Given the description of an element on the screen output the (x, y) to click on. 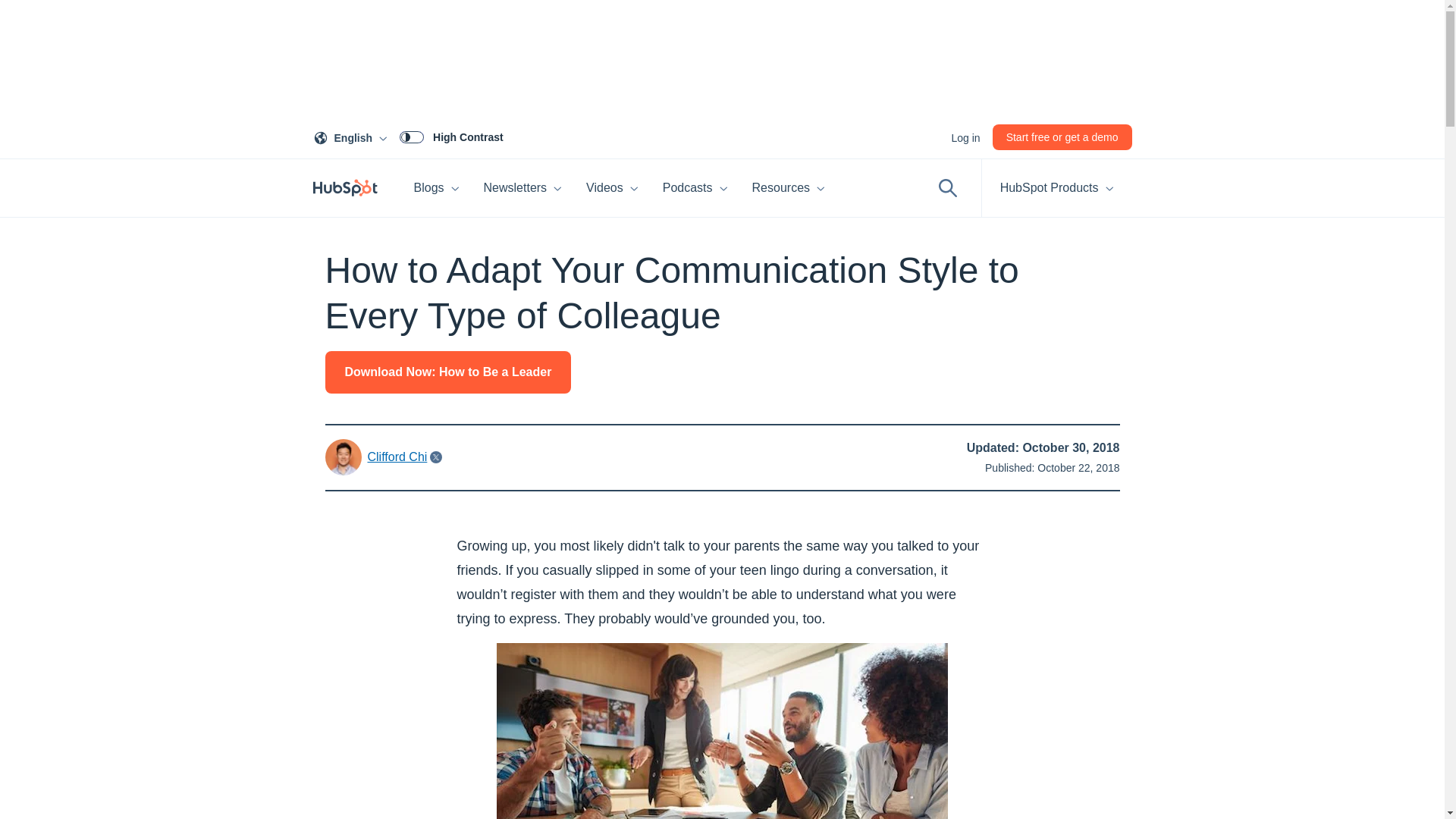
Start free or get a demo (1062, 136)
Blogs (353, 136)
High Contrast (436, 187)
Log in (450, 137)
Videos (964, 137)
Newsletters (611, 187)
